Given the description of an element on the screen output the (x, y) to click on. 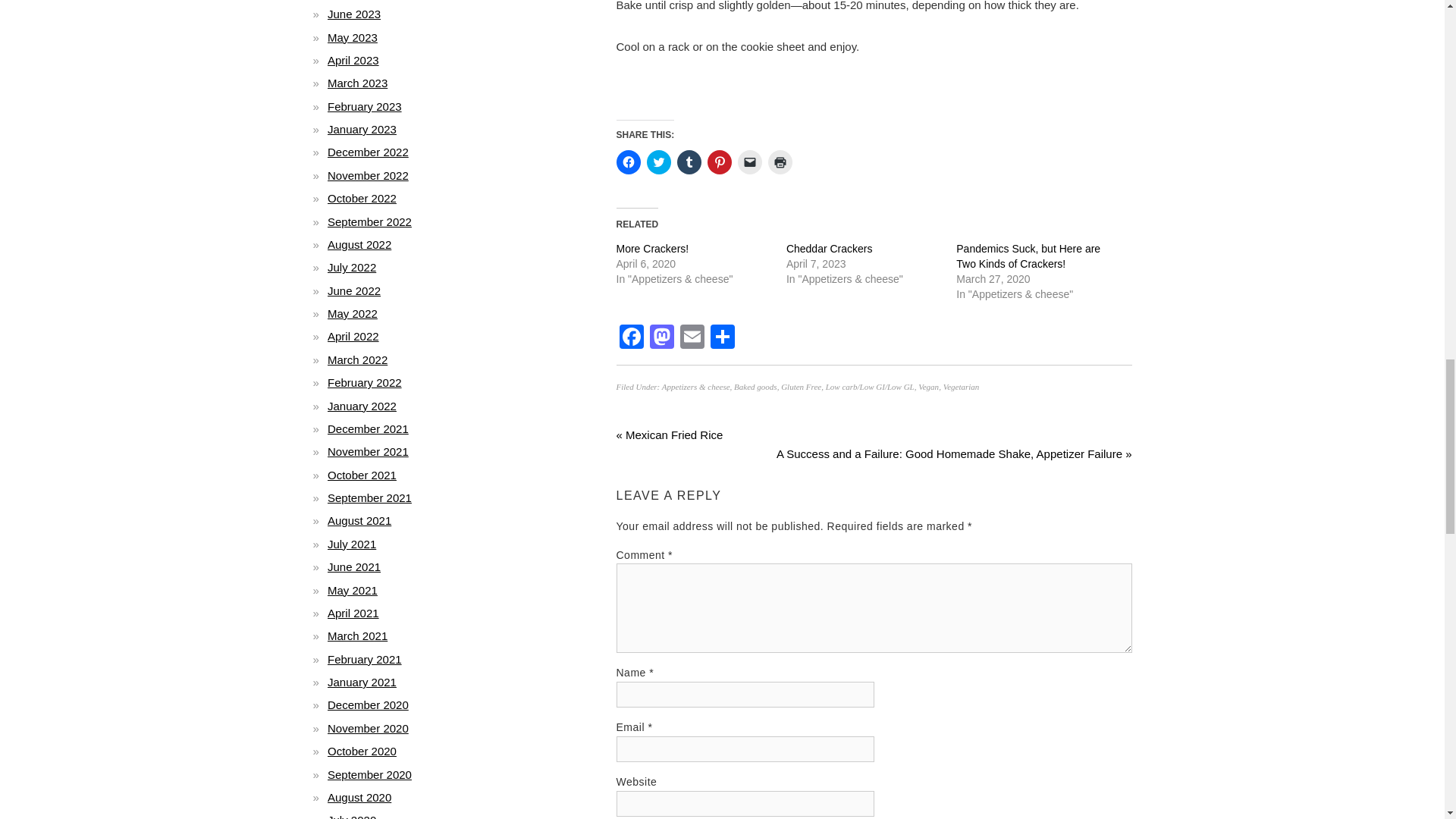
Click to share on Facebook (627, 161)
Pandemics Suck, but Here are Two Kinds of Crackers! (1028, 256)
Email (691, 338)
Click to share on Twitter (657, 161)
More Crackers! (651, 248)
Click to share on Pinterest (718, 161)
Click to print (779, 161)
More Crackers! (651, 248)
Facebook (630, 338)
Click to share on Tumblr (688, 161)
